Given the description of an element on the screen output the (x, y) to click on. 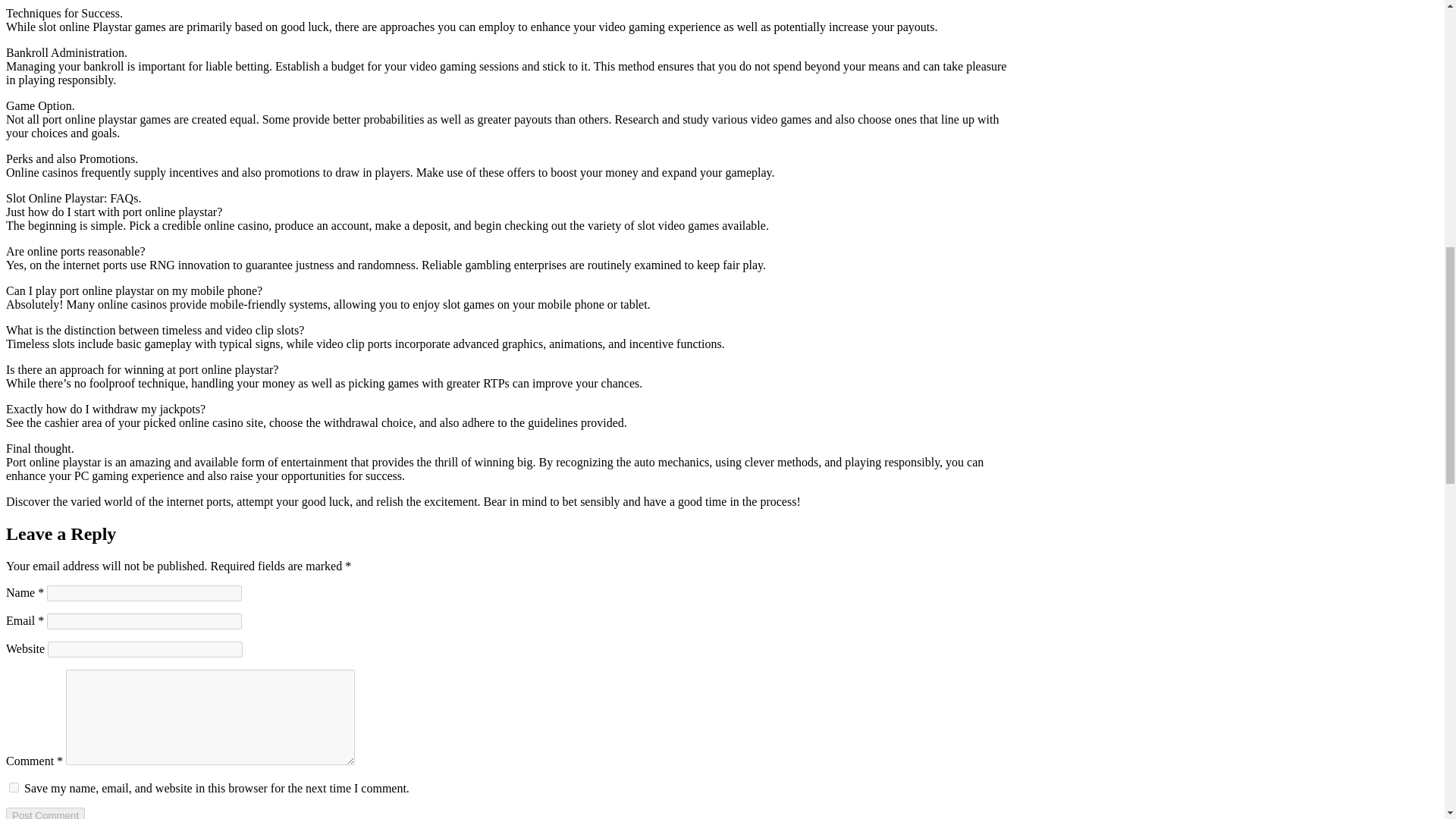
Post Comment (44, 813)
Post Comment (44, 813)
yes (13, 787)
